Given the description of an element on the screen output the (x, y) to click on. 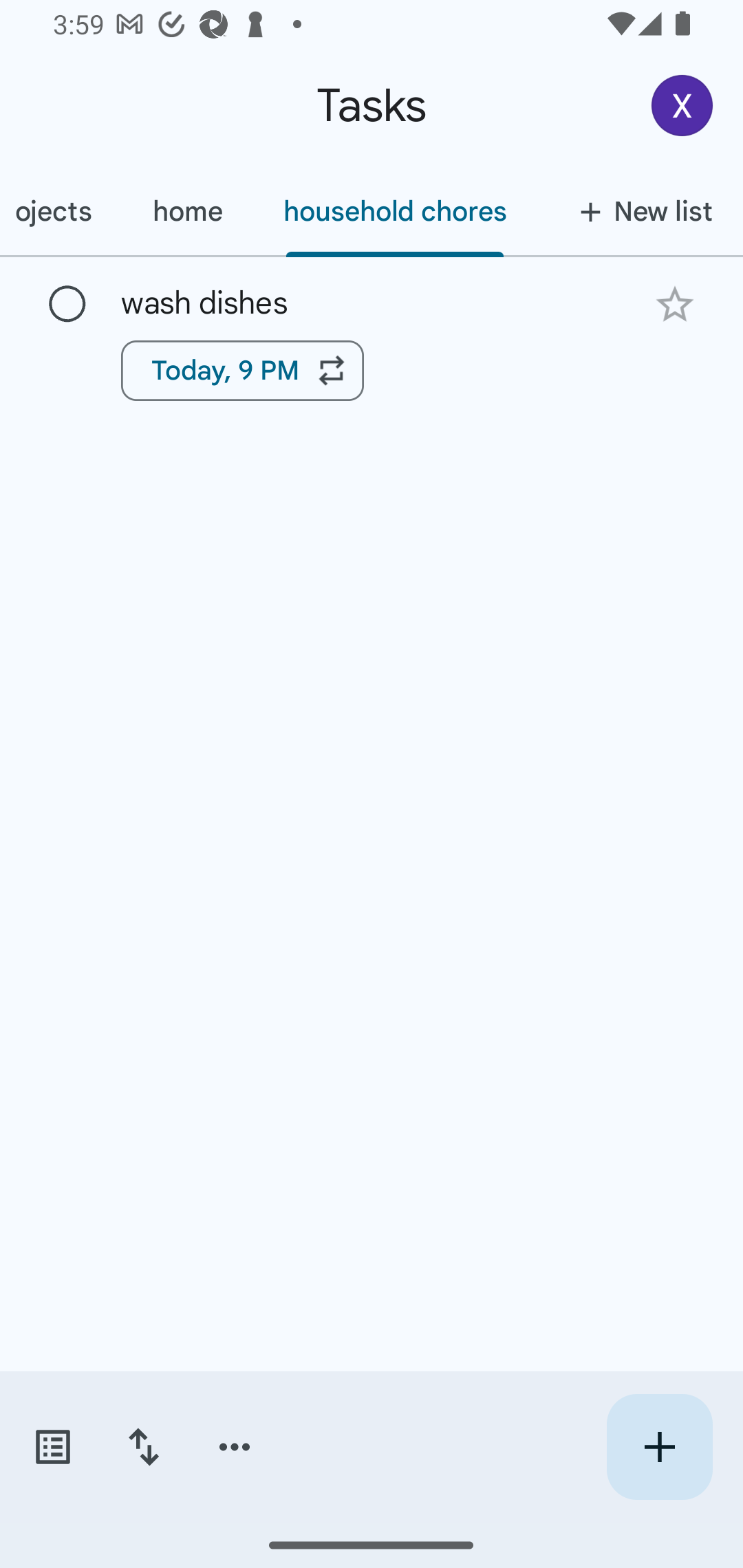
projects (60, 211)
home (186, 211)
New list (640, 211)
Add star (674, 303)
Mark as complete (67, 304)
Today, 9 PM (242, 369)
Switch task lists (52, 1447)
Create new task (659, 1446)
Change sort order (143, 1446)
More options (234, 1446)
